Given the description of an element on the screen output the (x, y) to click on. 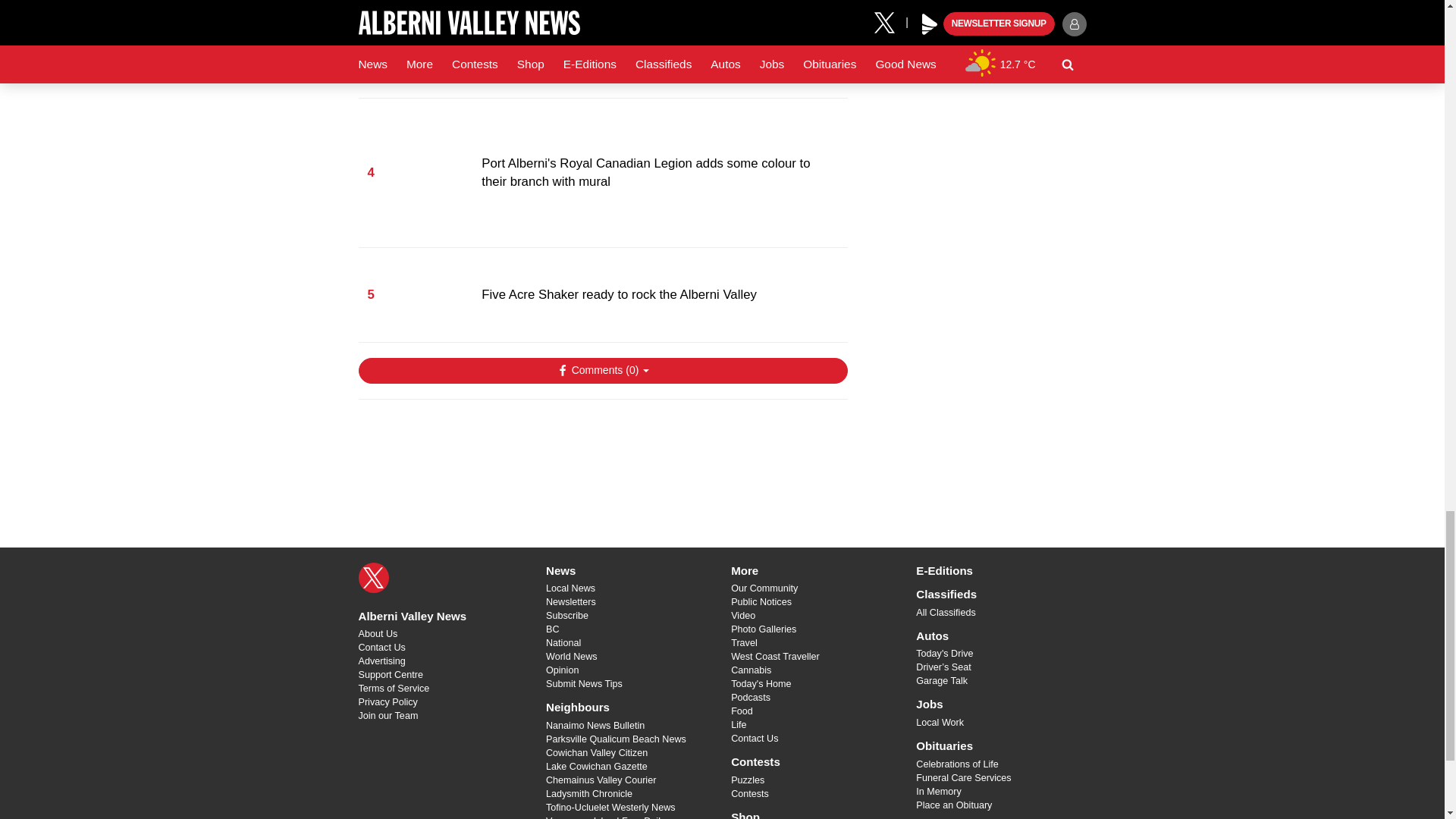
Show Comments (602, 370)
X (373, 577)
